Given the description of an element on the screen output the (x, y) to click on. 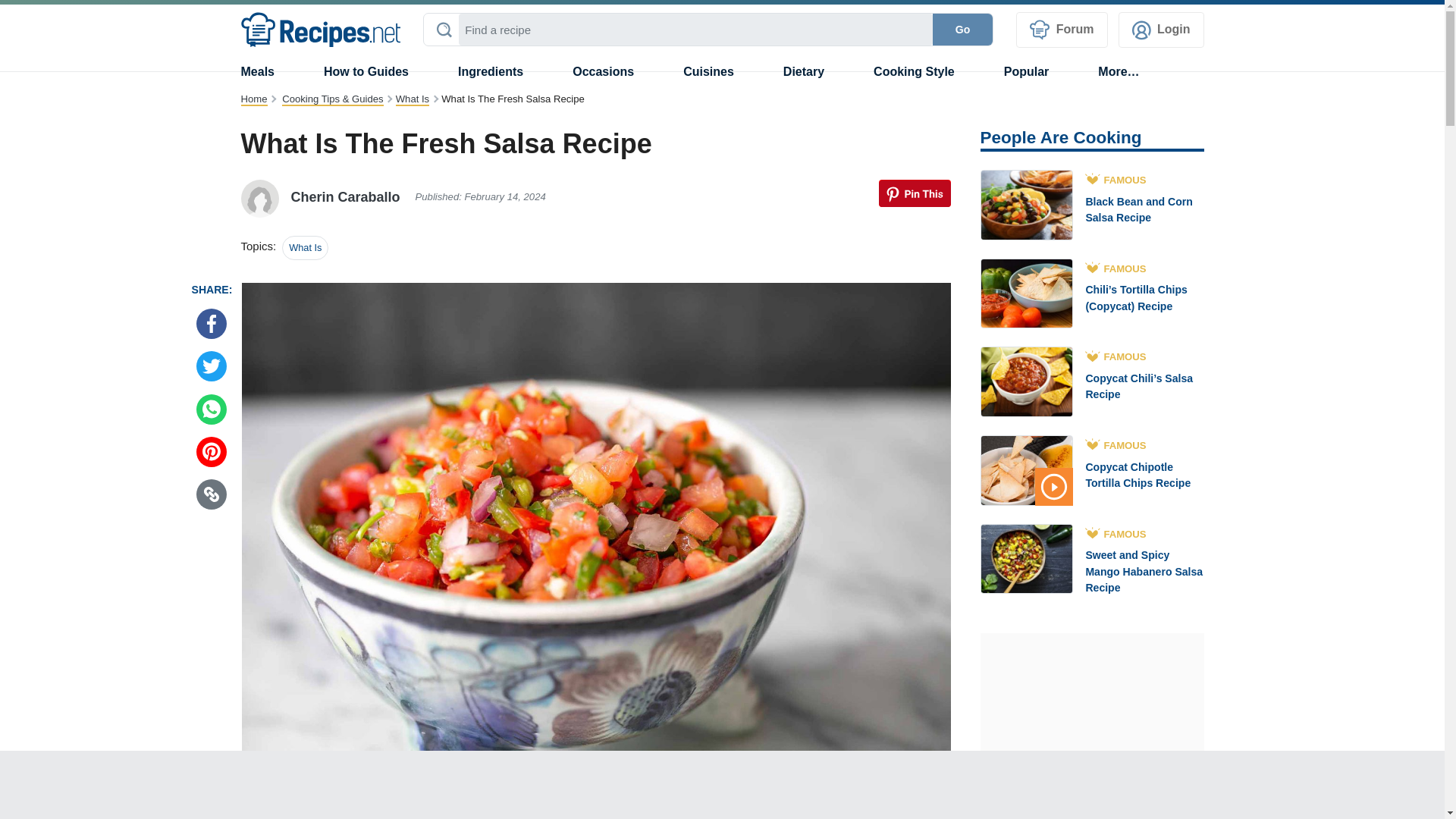
Recipes.net Recipes.net logo (320, 29)
Login (1161, 29)
Ingredients (490, 71)
Share on Twitter (211, 366)
Go (962, 29)
Share on Pinterest (211, 451)
How to Guides (366, 71)
Forum (1061, 29)
Share on WhatsApp (211, 409)
Copy to Clipboard (211, 494)
Recipes.net Recipes.net logo (321, 28)
Share on Pinterest (913, 193)
Share on Facebook (211, 323)
